Given the description of an element on the screen output the (x, y) to click on. 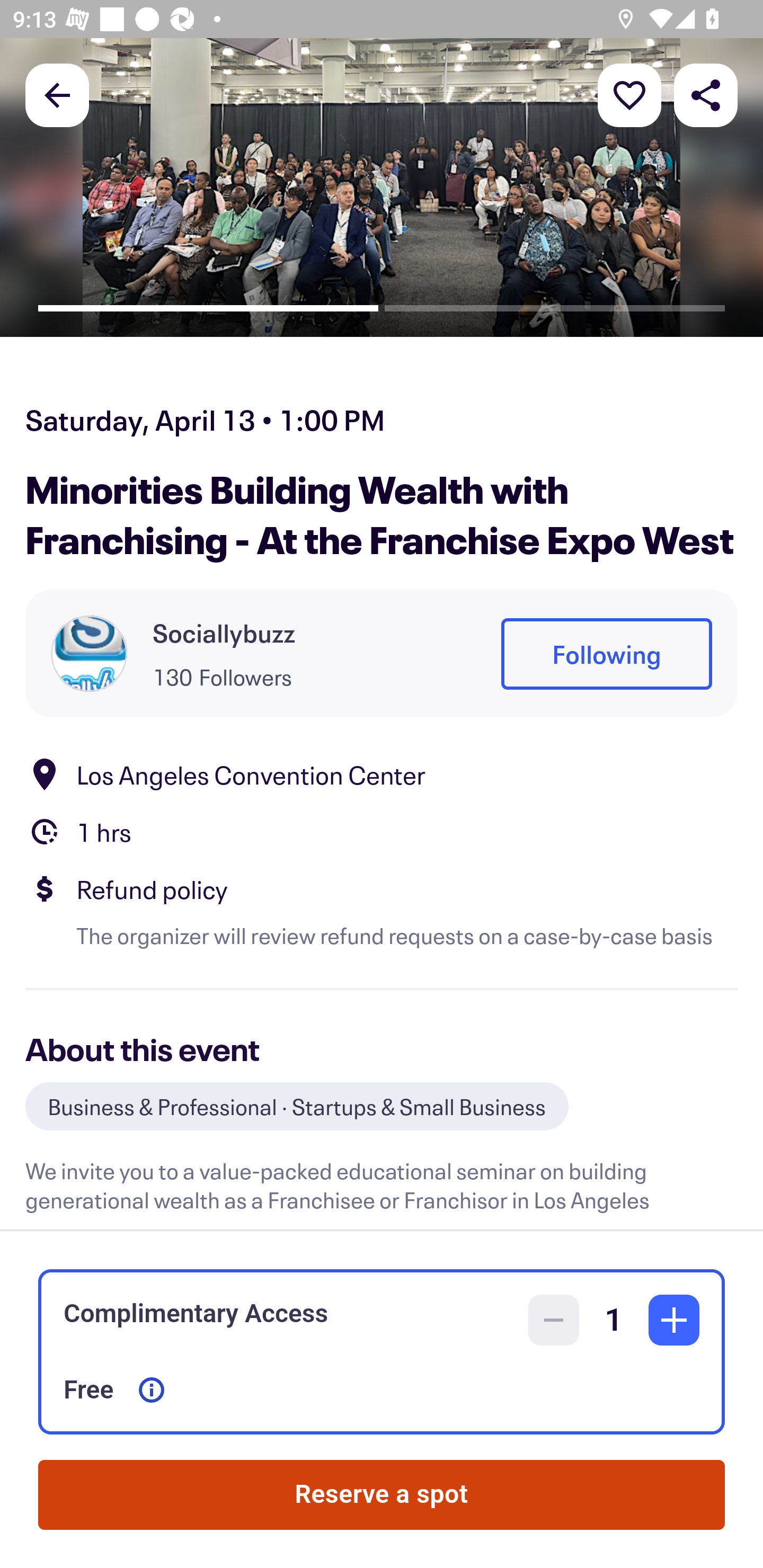
Back (57, 94)
More (629, 94)
Share (705, 94)
Sociallybuzz (223, 632)
Organizer profile picture (89, 653)
Following (606, 654)
Location Los Angeles Convention Center (381, 774)
